Given the description of an element on the screen output the (x, y) to click on. 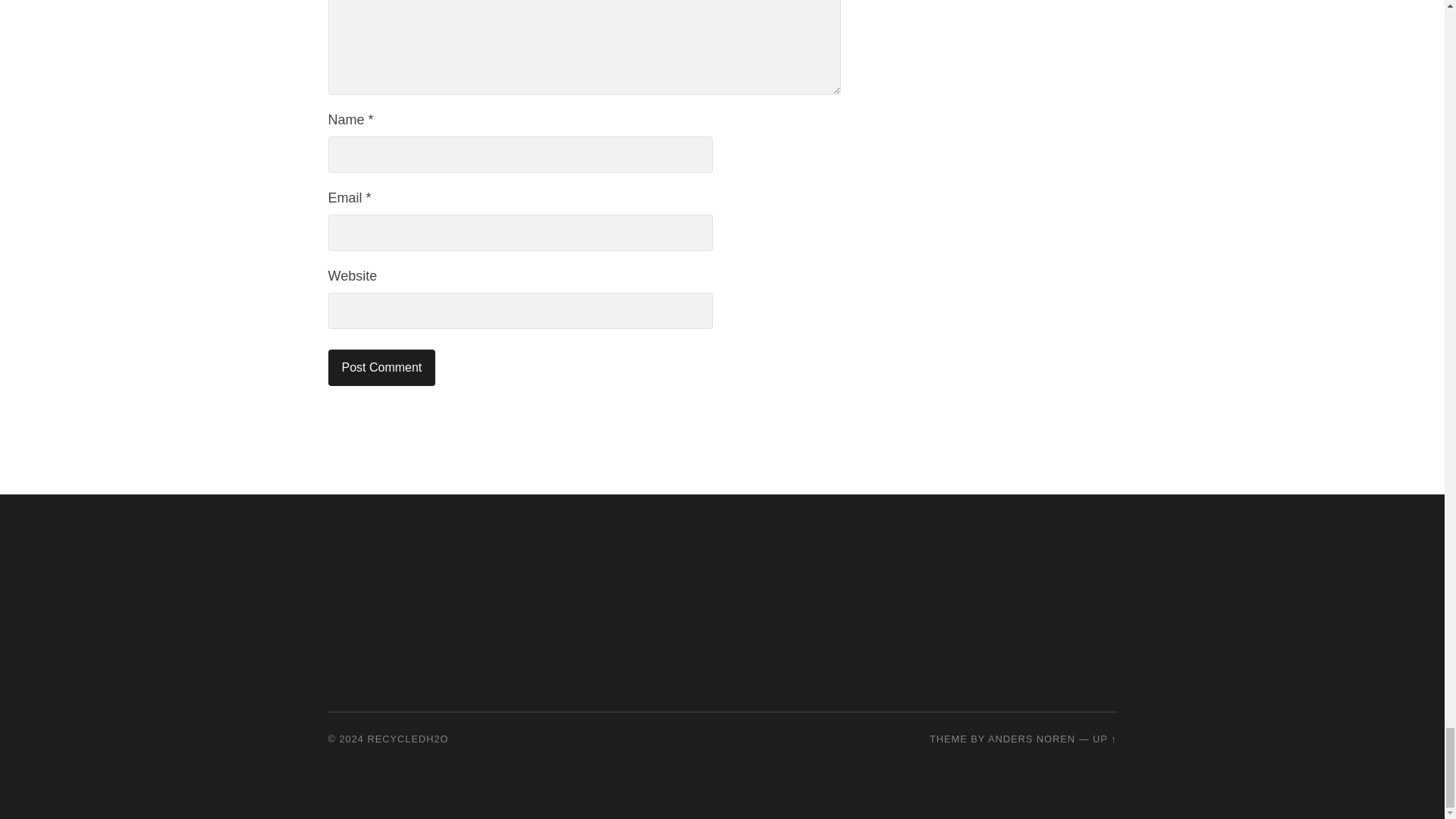
To the top (1104, 738)
Post Comment (381, 367)
